Given the description of an element on the screen output the (x, y) to click on. 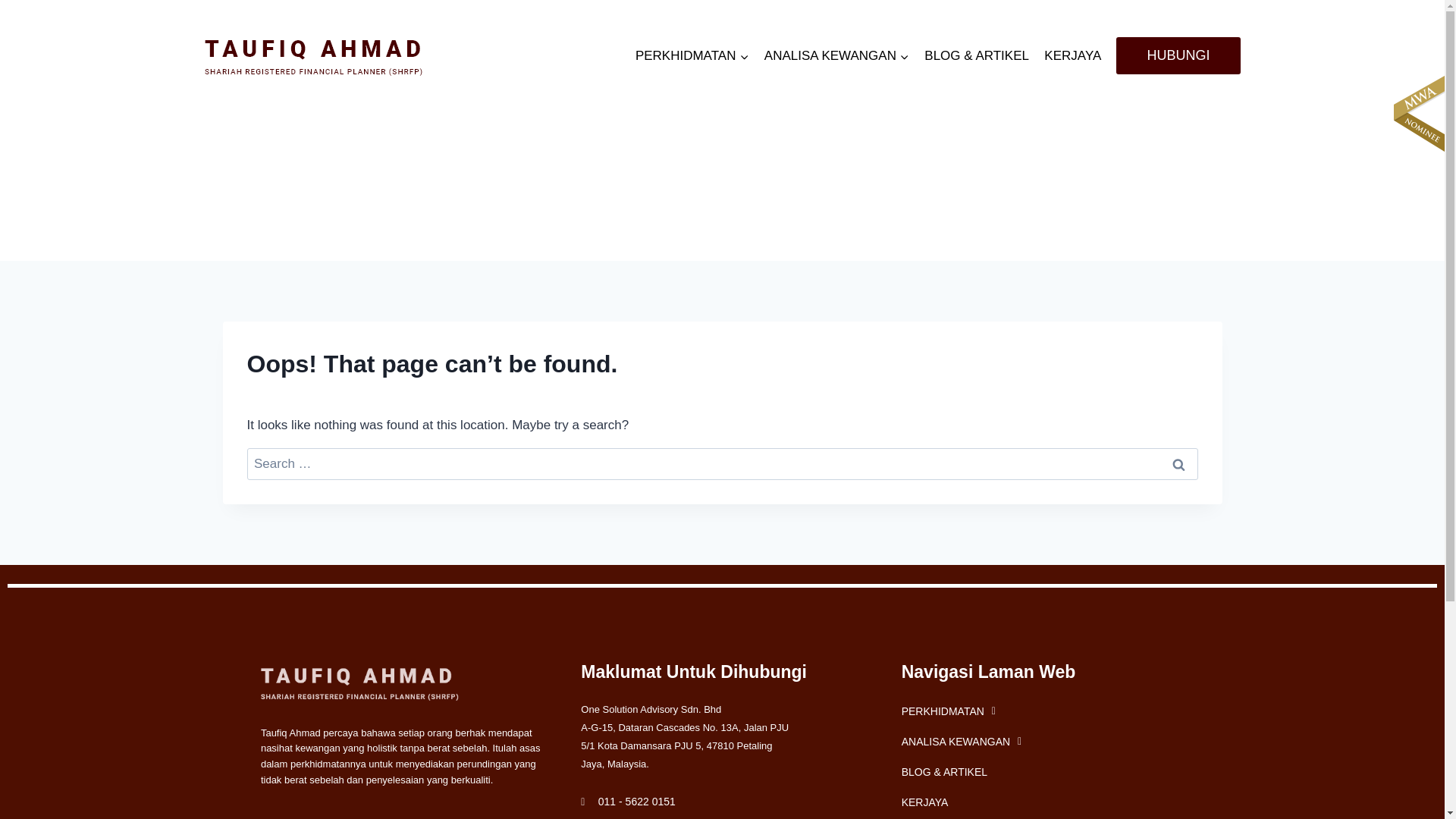
Search (1179, 463)
KERJAYA (1042, 802)
Search (1179, 463)
KERJAYA (1072, 55)
011 - 5622 0151 (721, 801)
ANALISA KEWANGAN (1042, 741)
PERKHIDMATAN (692, 55)
HUBUNGI (1178, 55)
Search (1179, 463)
PERKHIDMATAN (1042, 711)
